Given the description of an element on the screen output the (x, y) to click on. 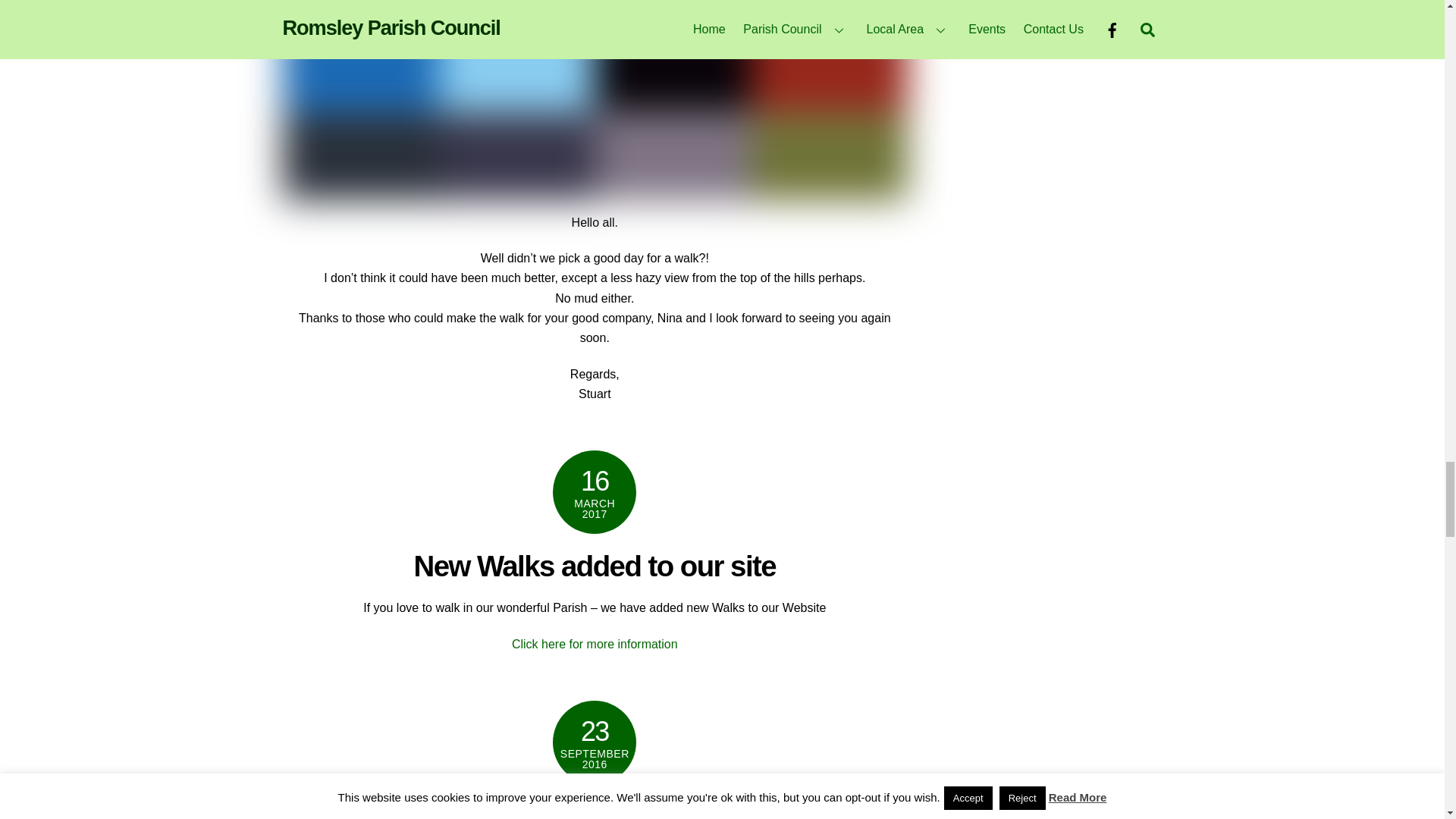
Click here for more information (595, 644)
New Walks added to our site (594, 565)
